Given the description of an element on the screen output the (x, y) to click on. 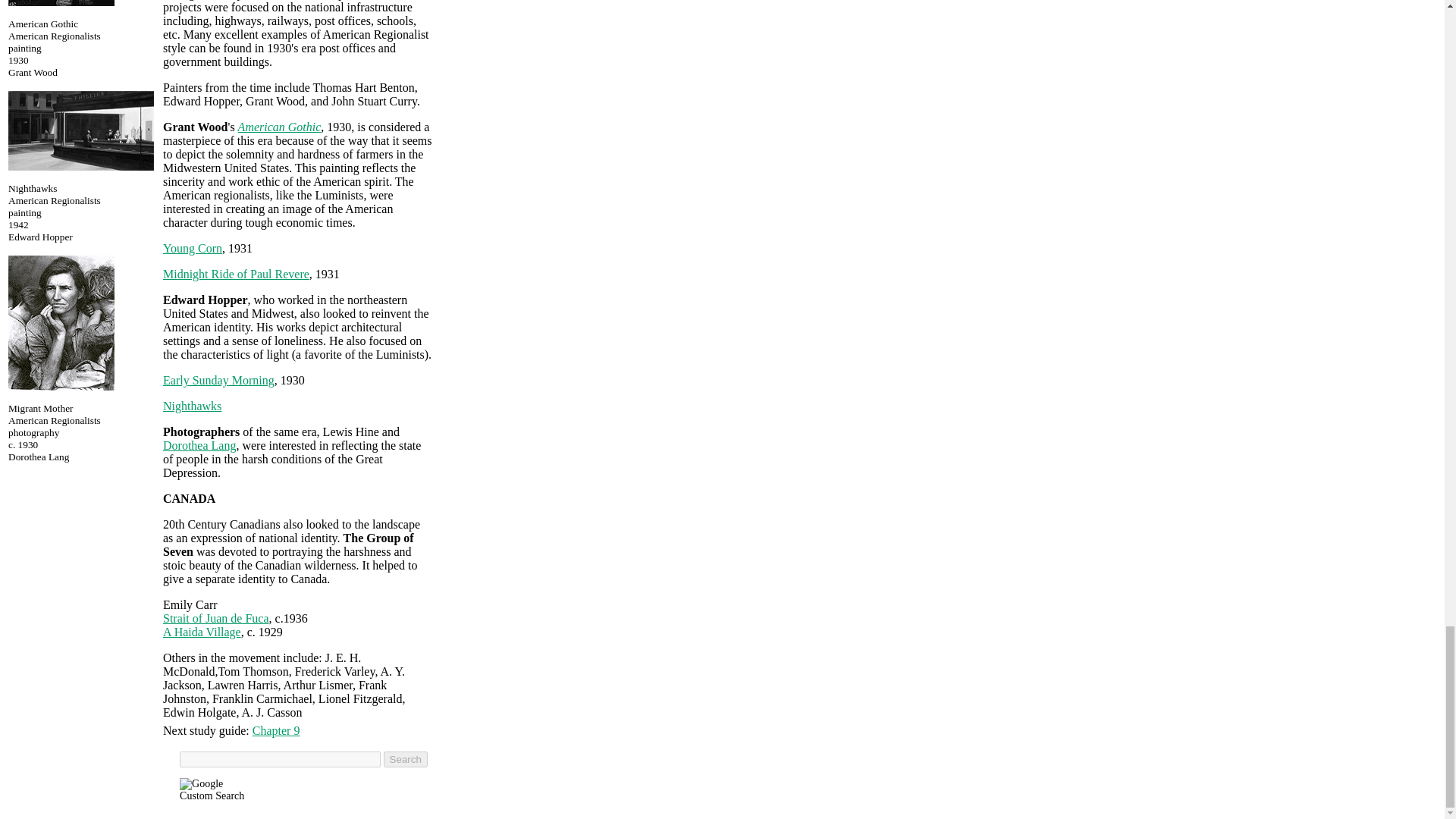
Search (406, 759)
